Given the description of an element on the screen output the (x, y) to click on. 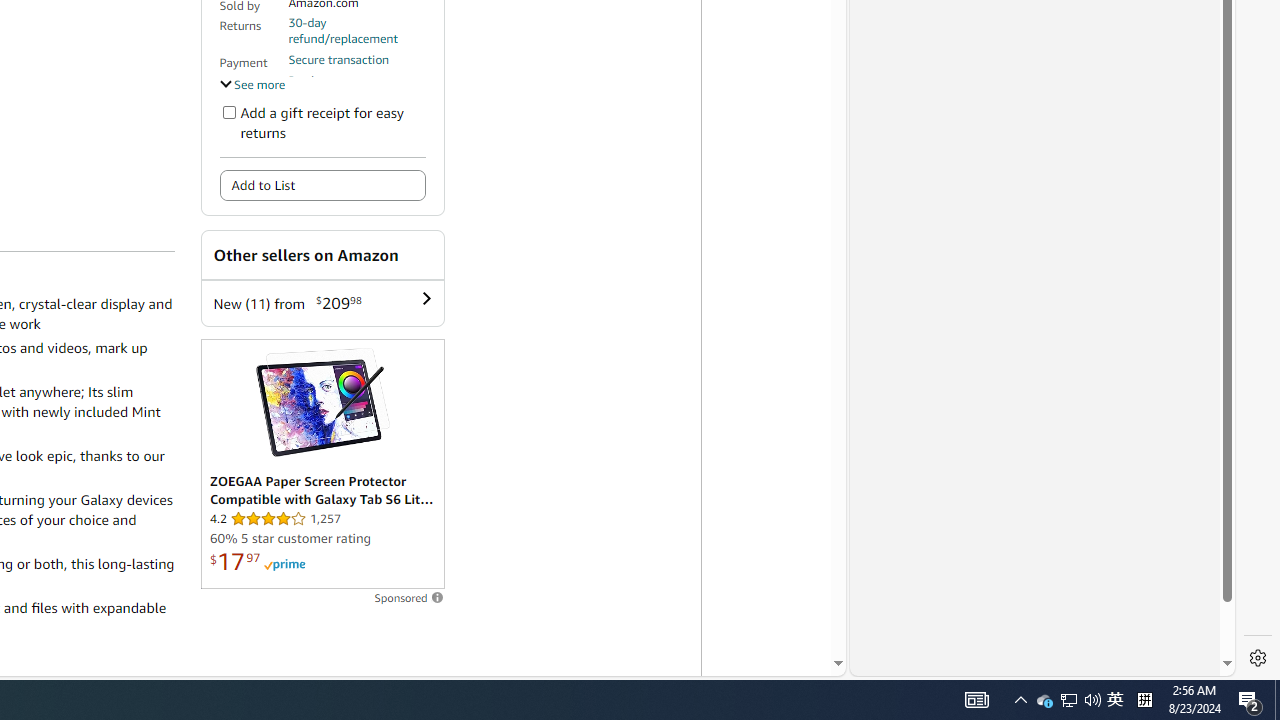
Sponsored ad (322, 463)
Secure transaction (339, 59)
Add to List (322, 185)
Add a gift receipt for easy returns (228, 111)
Prime (283, 564)
30-day refund/replacement (357, 30)
Product support included (357, 88)
